Given the description of an element on the screen output the (x, y) to click on. 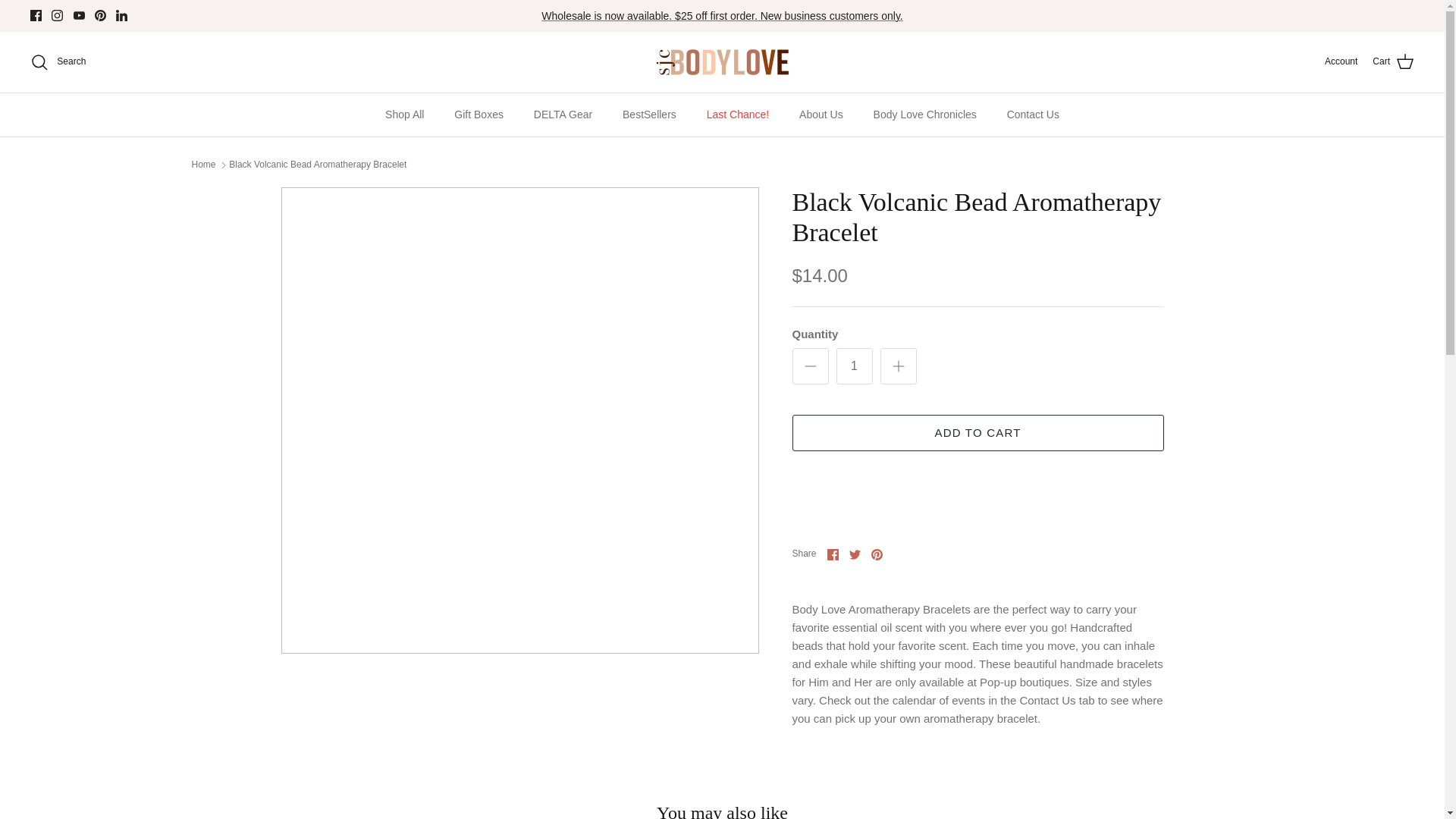
Instagram (56, 15)
Youtube (79, 15)
Last Chance! (738, 114)
Shop All (404, 114)
BestSellers (649, 114)
Pinterest (100, 15)
Facebook (36, 15)
Facebook (36, 15)
Instagram (56, 15)
SJC Body Love  (721, 61)
